Given the description of an element on the screen output the (x, y) to click on. 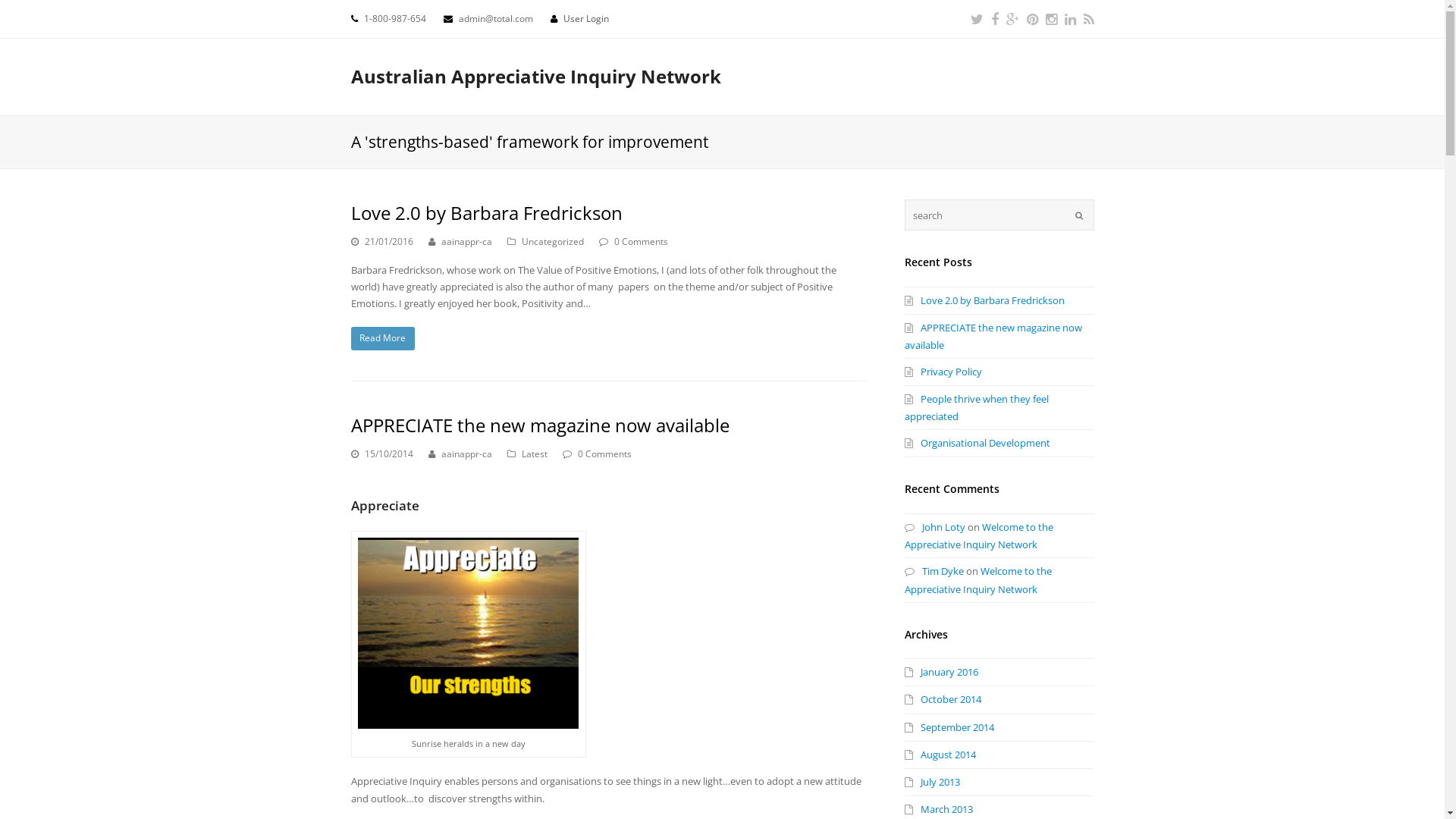
RSS Element type: hover (1087, 18)
APPRECIATE the new magazine now available Element type: text (992, 335)
July 2013 Element type: text (931, 781)
User Login Element type: text (585, 18)
Latest Element type: text (534, 453)
John Loty Element type: text (933, 526)
Instagram Element type: hover (1050, 18)
LinkedIn Element type: hover (1070, 18)
March 2013 Element type: text (937, 808)
August 2014 Element type: text (939, 754)
January 2016 Element type: text (940, 671)
aainappr-ca Element type: text (466, 453)
Facebook Element type: hover (993, 18)
APPRECIATE the new magazine now available Element type: text (539, 424)
aainappr-ca Element type: text (466, 241)
Organisational Development Element type: text (976, 442)
0 Comments Element type: text (604, 453)
Privacy Policy Element type: text (942, 371)
Tim Dyke Element type: text (933, 570)
Pinterest Element type: hover (1032, 18)
Uncategorized Element type: text (552, 241)
People thrive when they feel appreciated Element type: text (975, 407)
Love 2.0 by Barbara Fredrickson Element type: text (983, 300)
Love 2.0 by Barbara Fredrickson Element type: text (485, 212)
Australian Appreciative Inquiry Network Element type: text (535, 75)
0 Comments Element type: text (641, 241)
Welcome to the Appreciative Inquiry Network Element type: text (977, 535)
September 2014 Element type: text (948, 727)
Google Plus Element type: hover (1011, 18)
October 2014 Element type: text (941, 699)
Welcome to the Appreciative Inquiry Network Element type: text (977, 579)
Twitter Element type: hover (976, 18)
Read More Element type: text (382, 338)
